Given the description of an element on the screen output the (x, y) to click on. 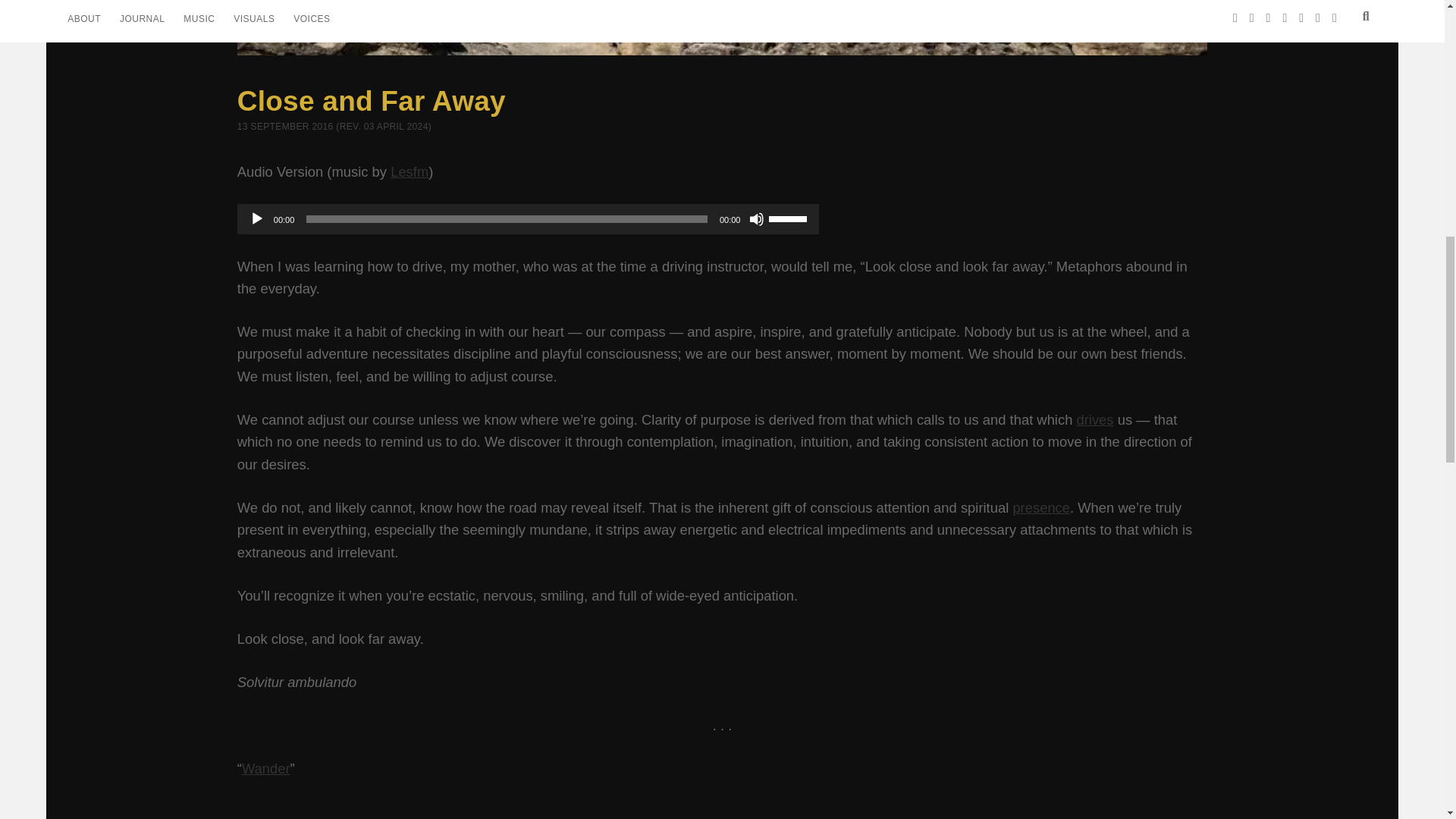
presence (1040, 507)
Play (256, 218)
Lesfm (409, 171)
drives (1094, 419)
Wander (265, 768)
Mute (756, 218)
